Given the description of an element on the screen output the (x, y) to click on. 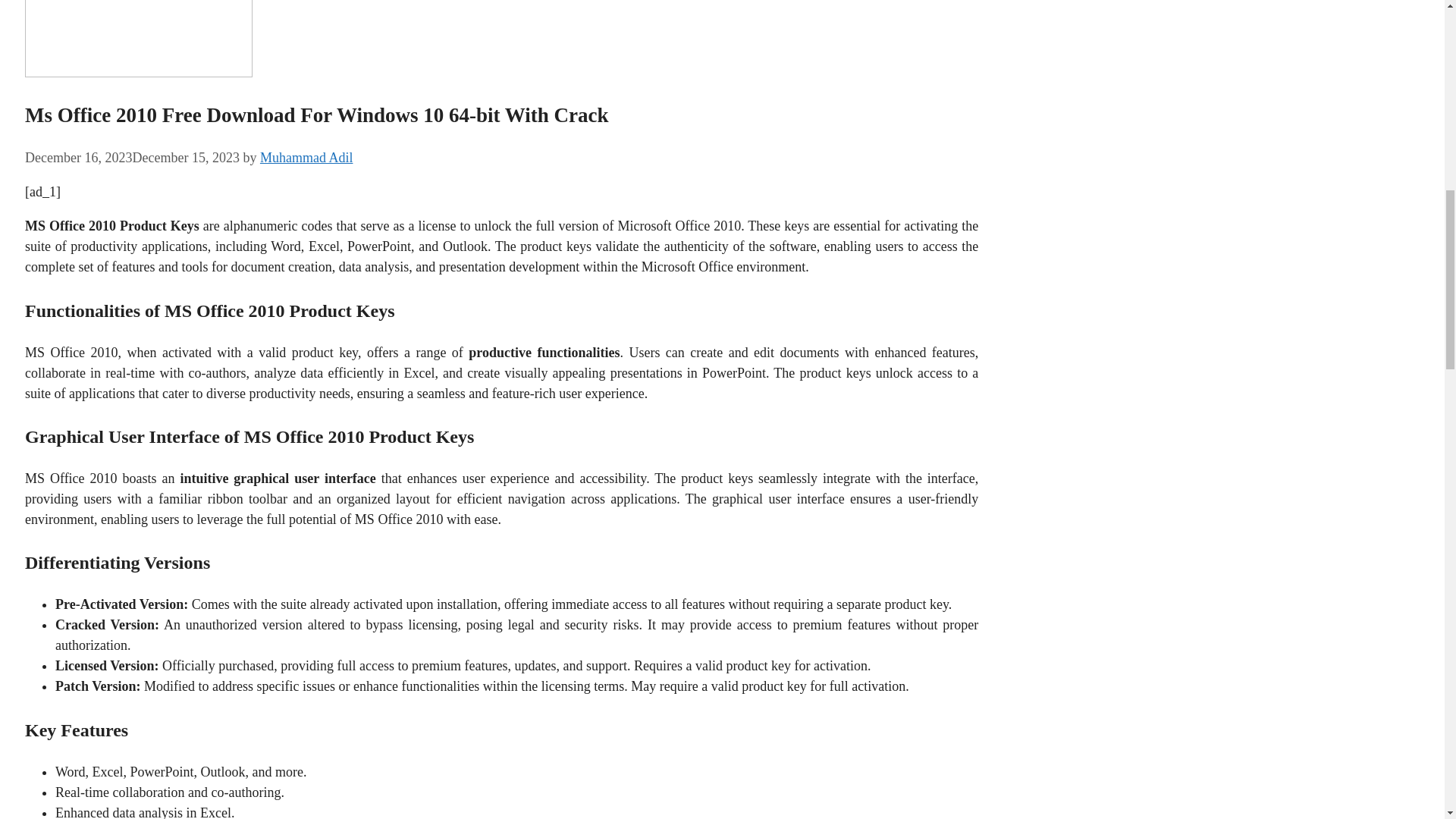
Muhammad Adil (306, 157)
View all posts by Muhammad Adil (306, 157)
Scroll back to top (1406, 720)
